Given the description of an element on the screen output the (x, y) to click on. 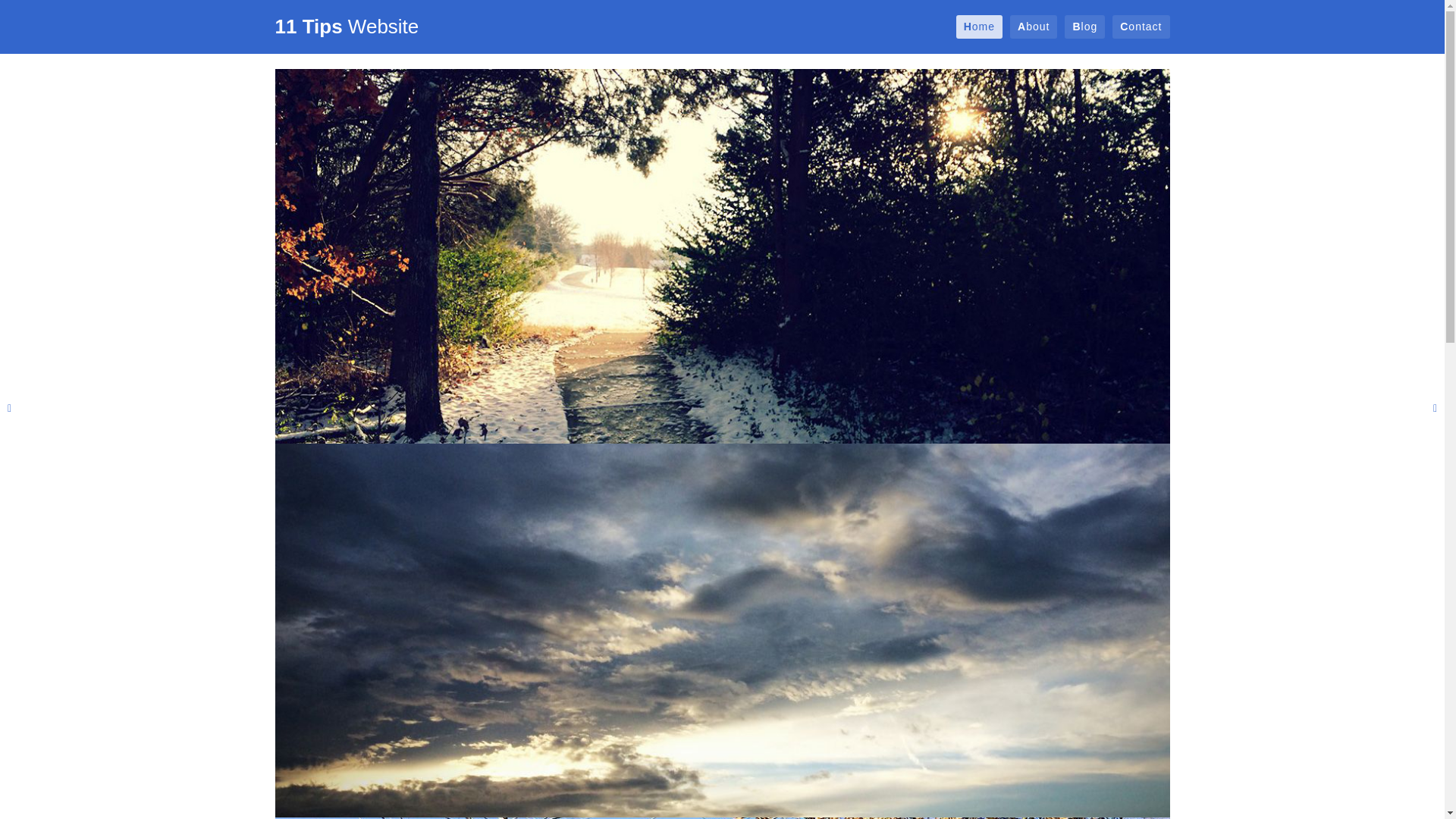
Blog Element type: text (1084, 26)
11 Tips Website Element type: text (346, 26)
Home Element type: text (979, 26)
About Element type: text (1033, 26)
Contact Element type: text (1140, 26)
